Given the description of an element on the screen output the (x, y) to click on. 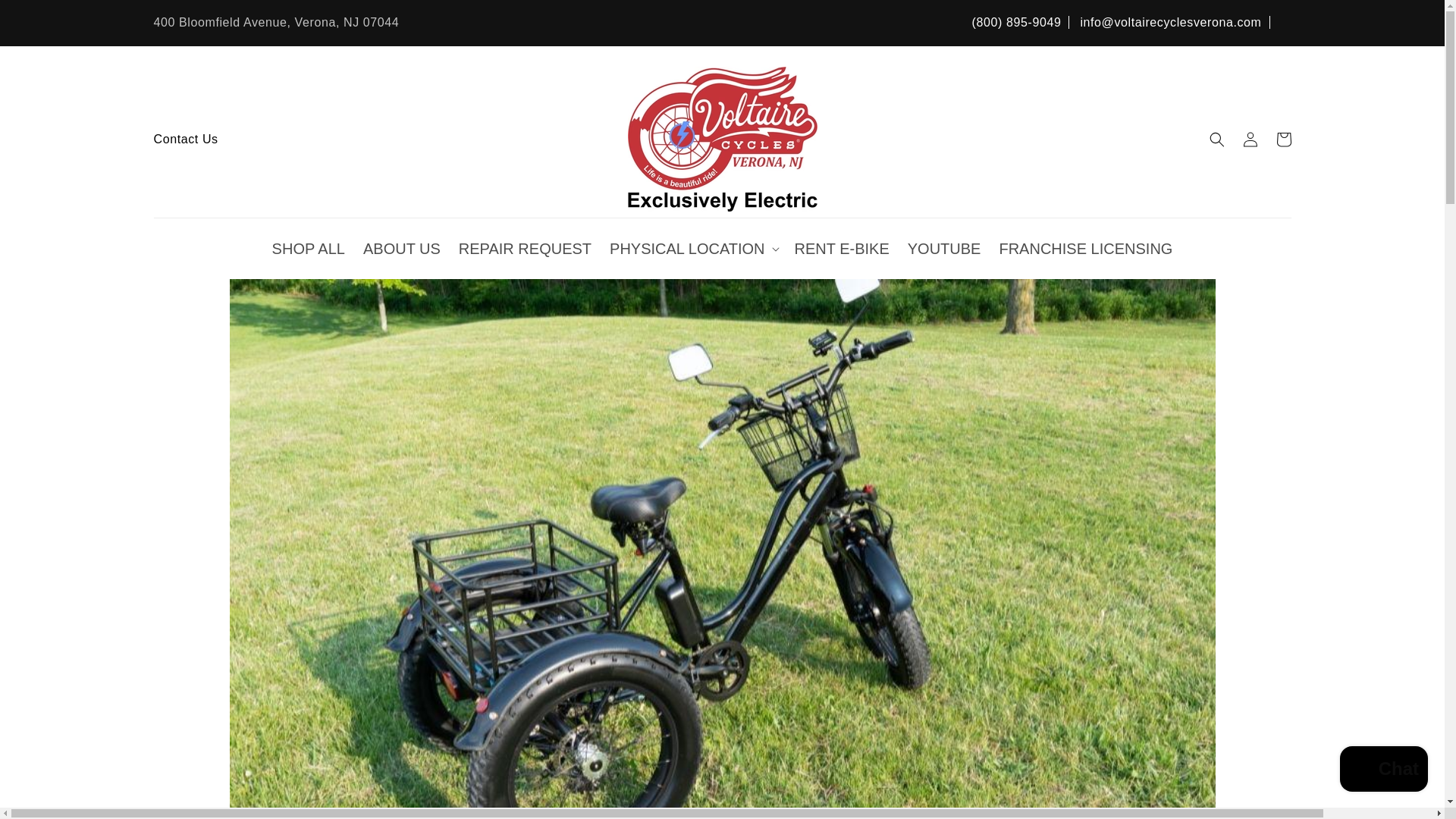
SHOP ALL (308, 248)
FRANCHISE LICENSING (1085, 248)
ABOUT US (401, 248)
YOUTUBE (944, 248)
SKIP TO CONTENT (45, 17)
Contact Us (184, 138)
REPAIR REQUEST (524, 248)
Shopify online store chat (1383, 770)
RENT E-BIKE (842, 248)
